Given the description of an element on the screen output the (x, y) to click on. 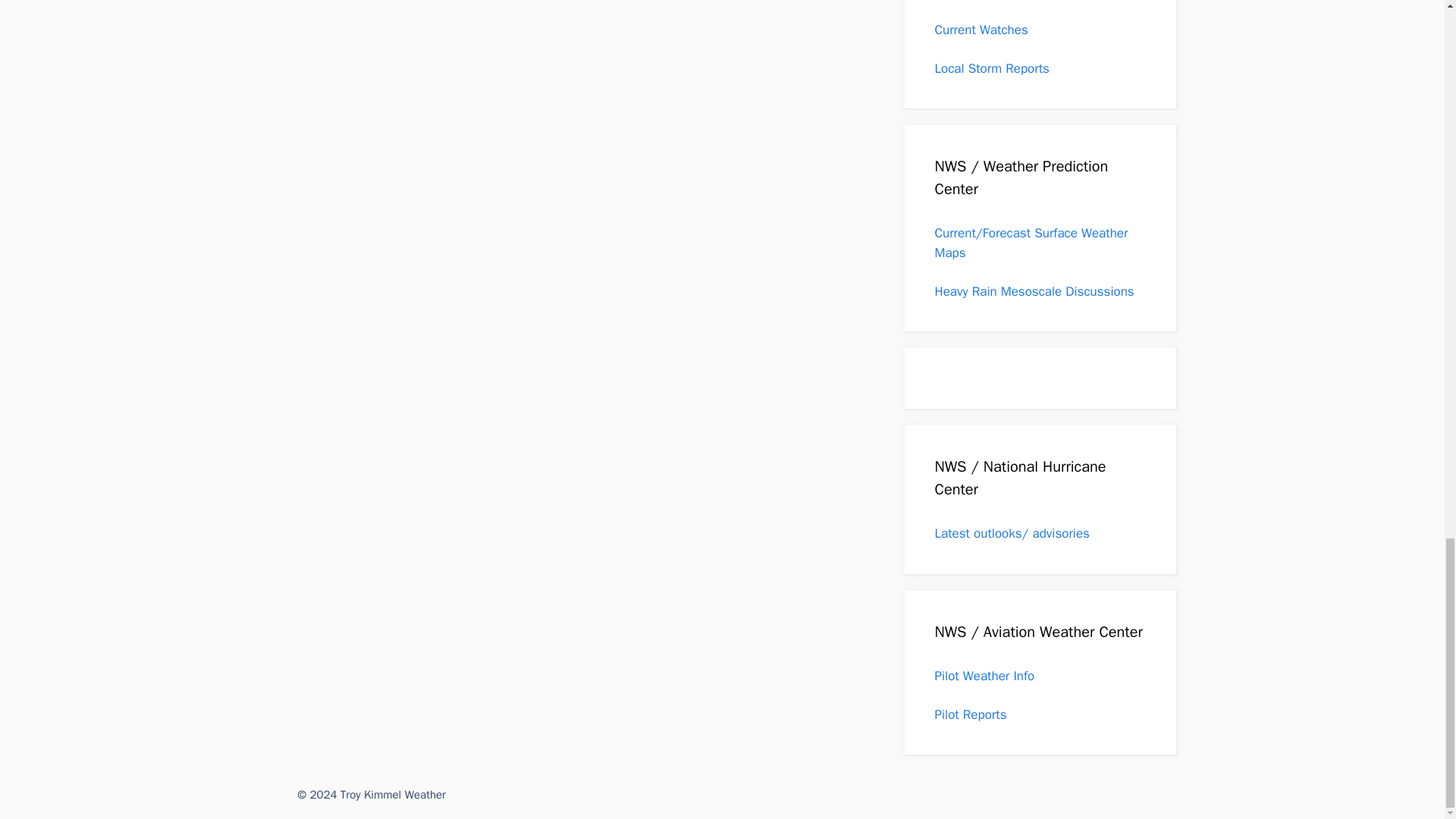
Pilot Reports (970, 714)
Current Watches (980, 29)
Piolet Weather Info (983, 675)
Heavy Rain Mesoscale Discussions (1034, 291)
Piolet Weather Info (970, 714)
Latest Outlooks (1011, 533)
Pilot Weather Info (983, 675)
Local Storm Reports (991, 68)
Local Storm Reports (991, 68)
Current Watches (980, 29)
